Given the description of an element on the screen output the (x, y) to click on. 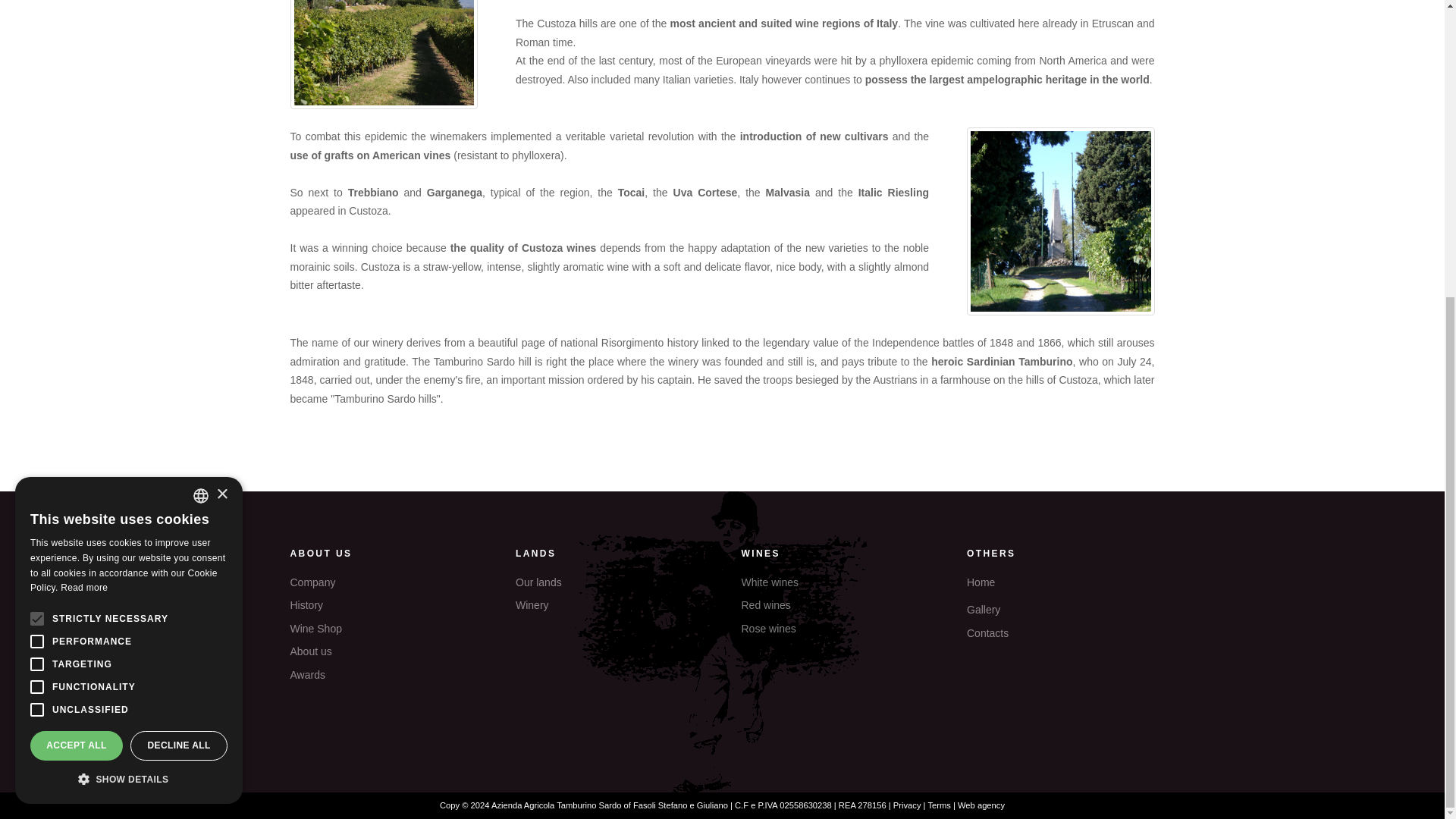
Company (383, 581)
History (383, 605)
White wines (835, 581)
Wine Shop (383, 628)
Awards (383, 674)
Home (1060, 581)
Red wines (835, 605)
Rose wines (835, 628)
About us (383, 651)
Our lands (609, 581)
Winery (609, 605)
